Given the description of an element on the screen output the (x, y) to click on. 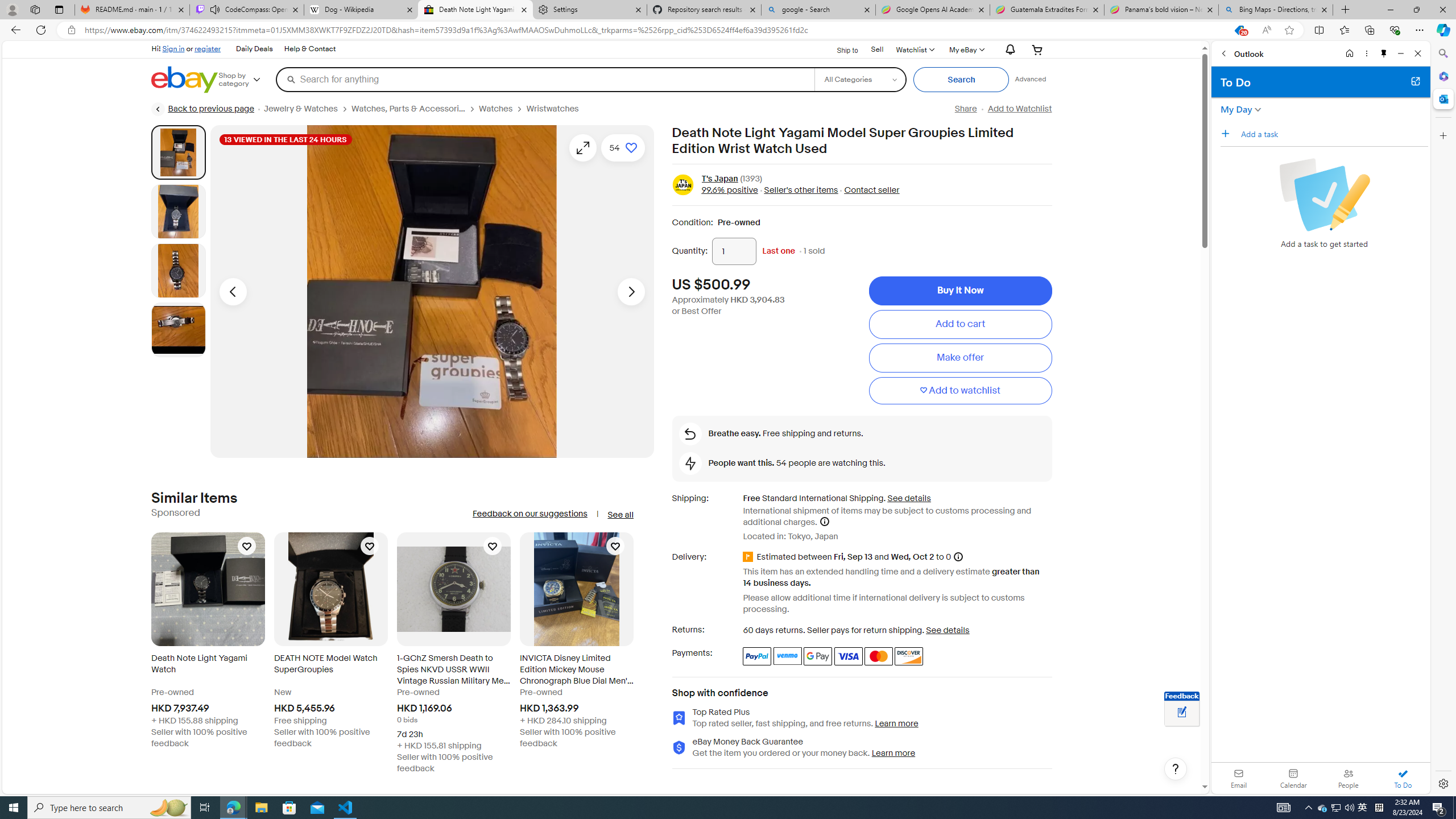
Mute tab (215, 8)
My Day (1236, 109)
My eBay (966, 49)
Daily Deals (254, 49)
PayPal (756, 656)
Visa (848, 656)
Google Pay (817, 656)
Class: icon-btn (582, 147)
Jewelry & Watches (300, 108)
Class: ux-action (682, 184)
